Given the description of an element on the screen output the (x, y) to click on. 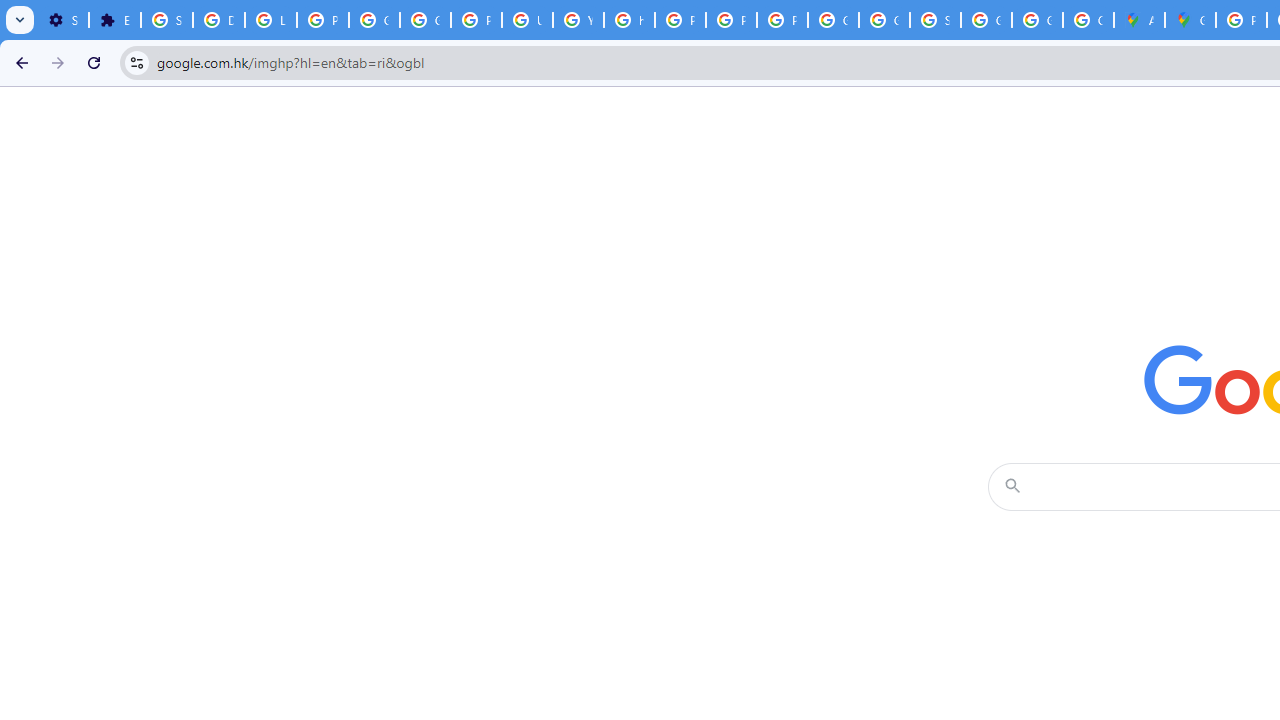
Sign in - Google Accounts (166, 20)
YouTube (578, 20)
Create your Google Account (1087, 20)
Sign in - Google Accounts (935, 20)
Extensions (114, 20)
Google Account Help (374, 20)
Learn how to find your photos - Google Photos Help (270, 20)
Delete photos & videos - Computer - Google Photos Help (218, 20)
